Given the description of an element on the screen output the (x, y) to click on. 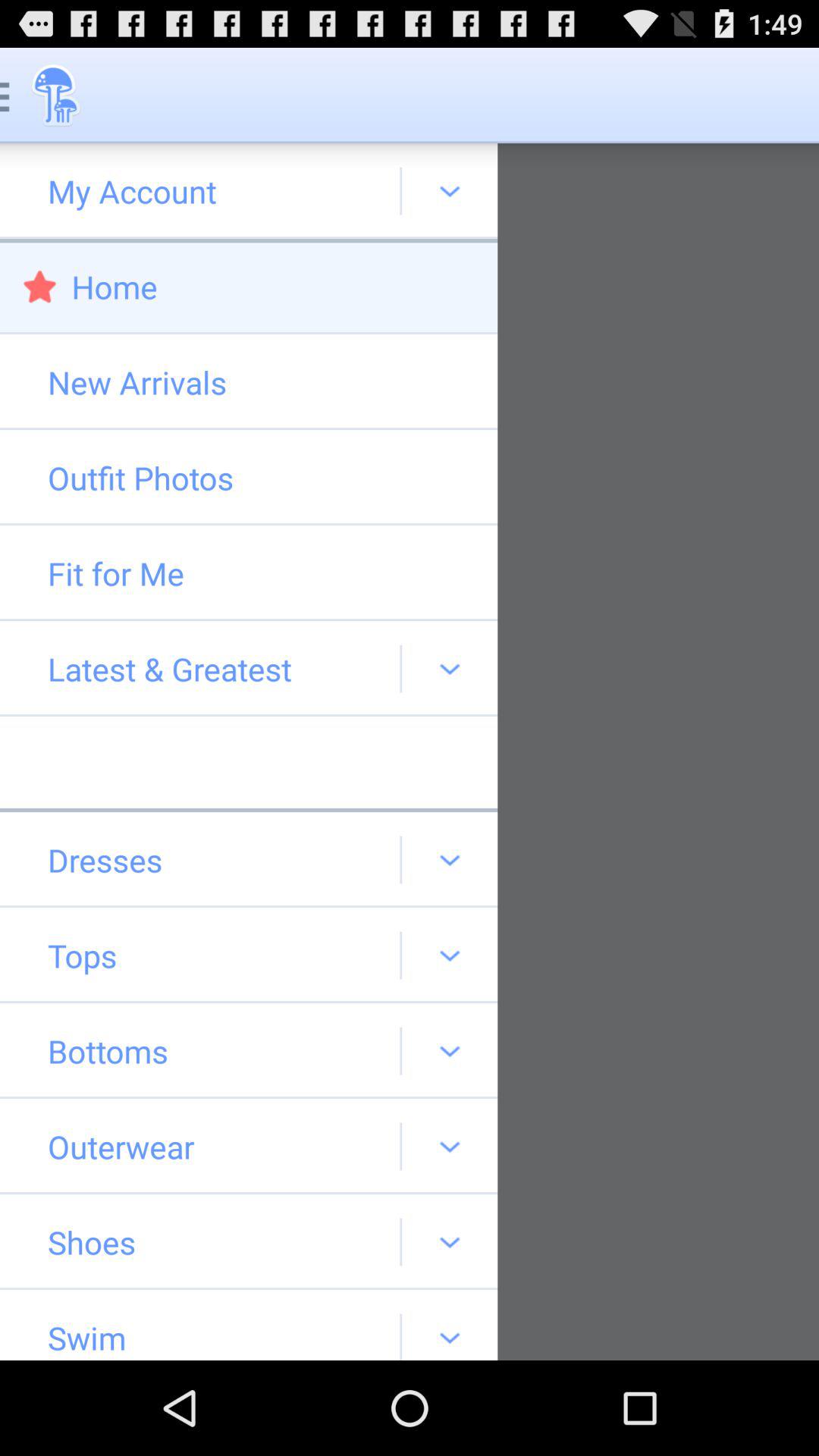
click on red star (39, 287)
click on drop down at dresses (449, 859)
click on the drop down beside swim (449, 1324)
select the drop down arrow next to shoes (449, 1241)
click on the arrow at right side of bottoms (449, 1051)
